Given the description of an element on the screen output the (x, y) to click on. 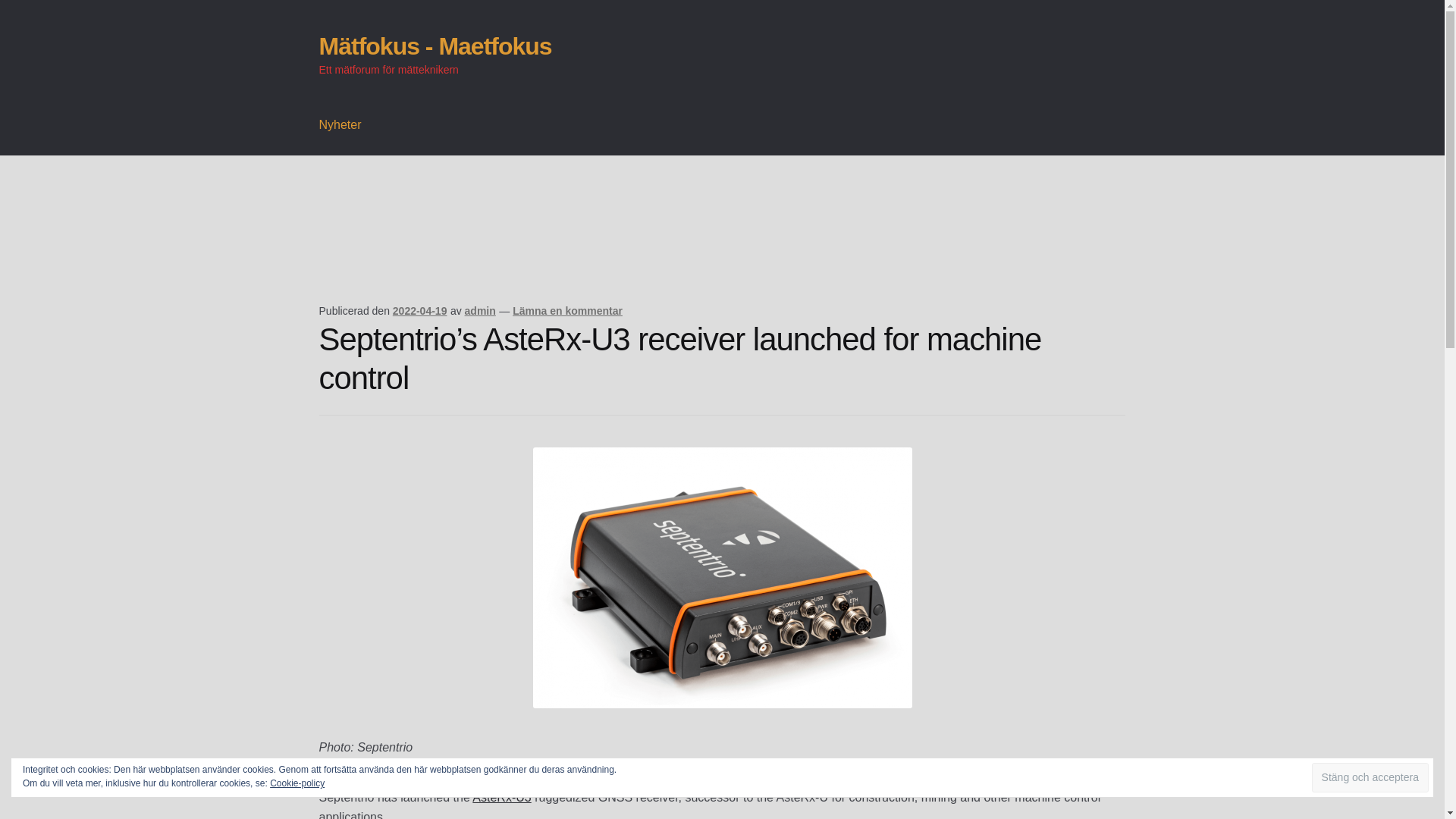
2022-04-19 (419, 310)
Cookie-policy (296, 783)
admin (480, 310)
Nyheter (340, 124)
AsteRx-U3 (501, 797)
